Given the description of an element on the screen output the (x, y) to click on. 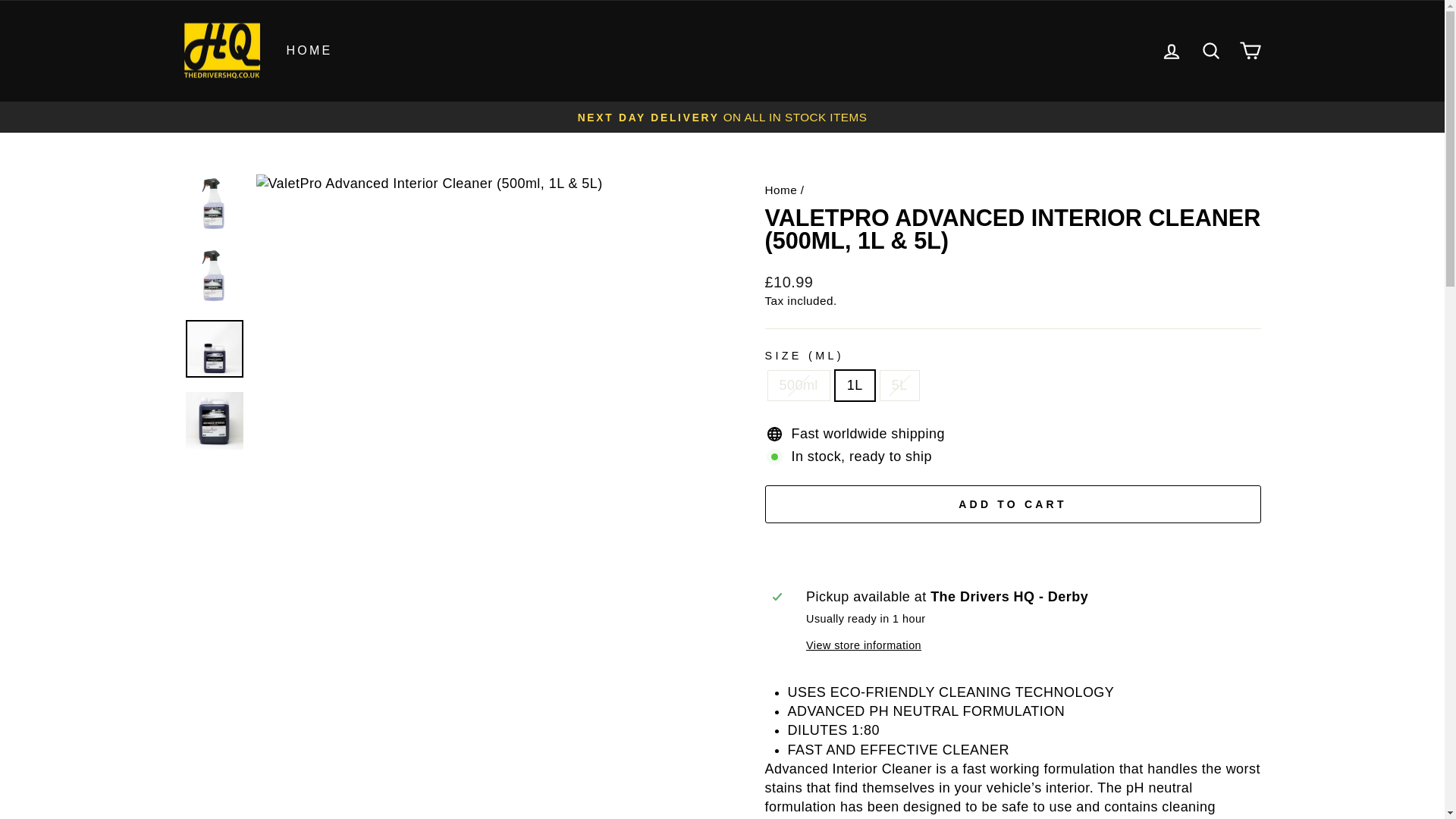
ADD TO CART (1012, 504)
ACCOUNT (1170, 51)
Home (1210, 51)
5L (780, 189)
CART (1171, 51)
500ml (1210, 50)
Back to the frontpage (1249, 51)
